Given the description of an element on the screen output the (x, y) to click on. 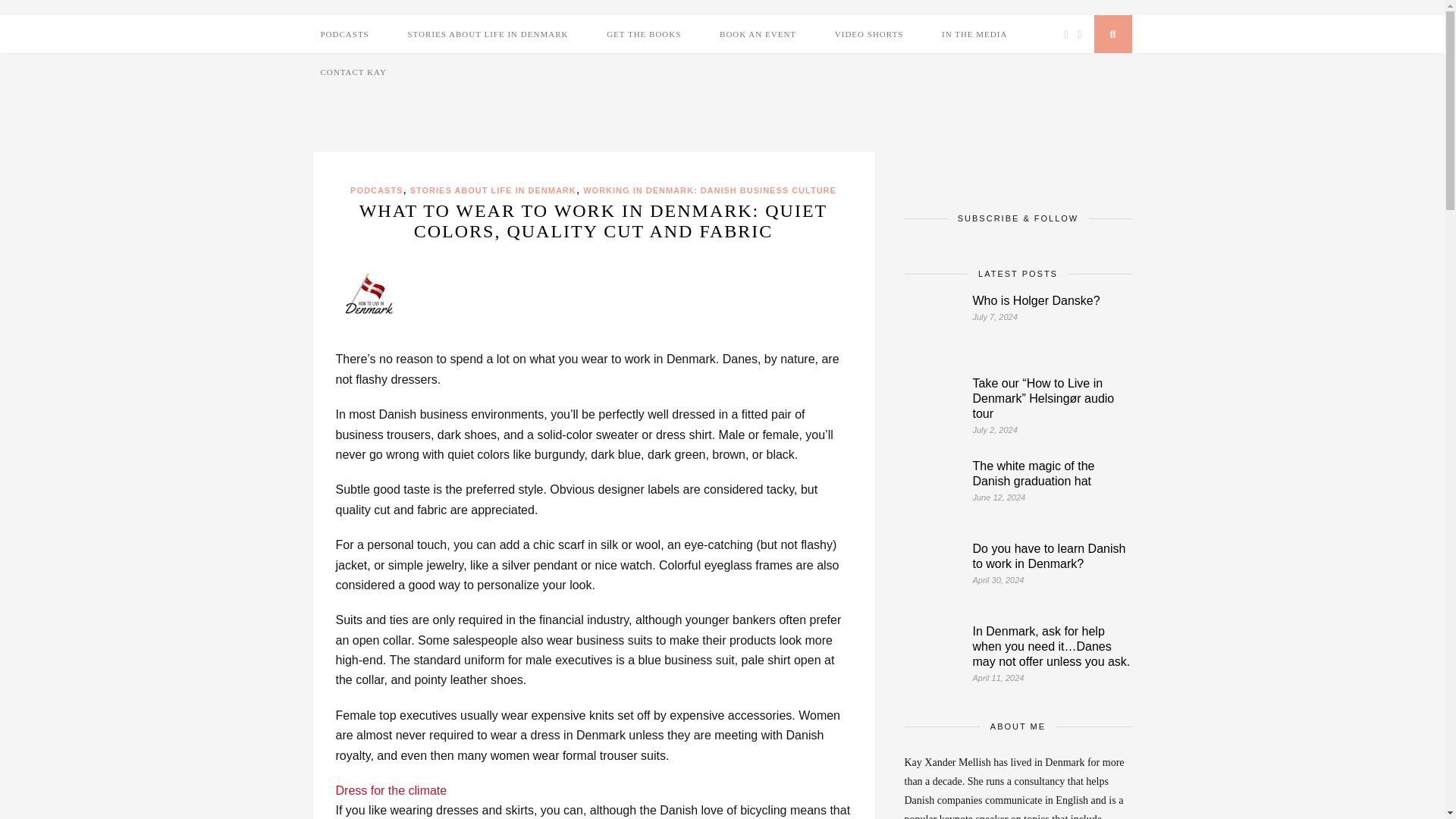
BOOK AN EVENT (757, 34)
CONTACT KAY (353, 71)
PODCASTS (376, 189)
IN THE MEDIA (974, 34)
VIDEO SHORTS (869, 34)
PODCASTS (344, 34)
STORIES ABOUT LIFE IN DENMARK (493, 189)
WORKING IN DENMARK: DANISH BUSINESS CULTURE (709, 189)
STORIES ABOUT LIFE IN DENMARK (486, 34)
GET THE BOOKS (643, 34)
